Given the description of an element on the screen output the (x, y) to click on. 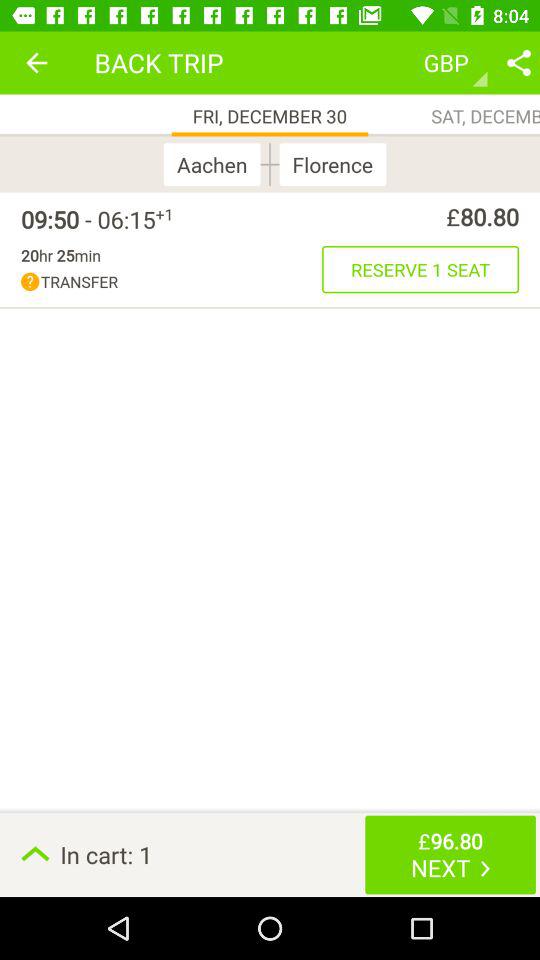
open icon above the 09 50 06 (36, 62)
